Given the description of an element on the screen output the (x, y) to click on. 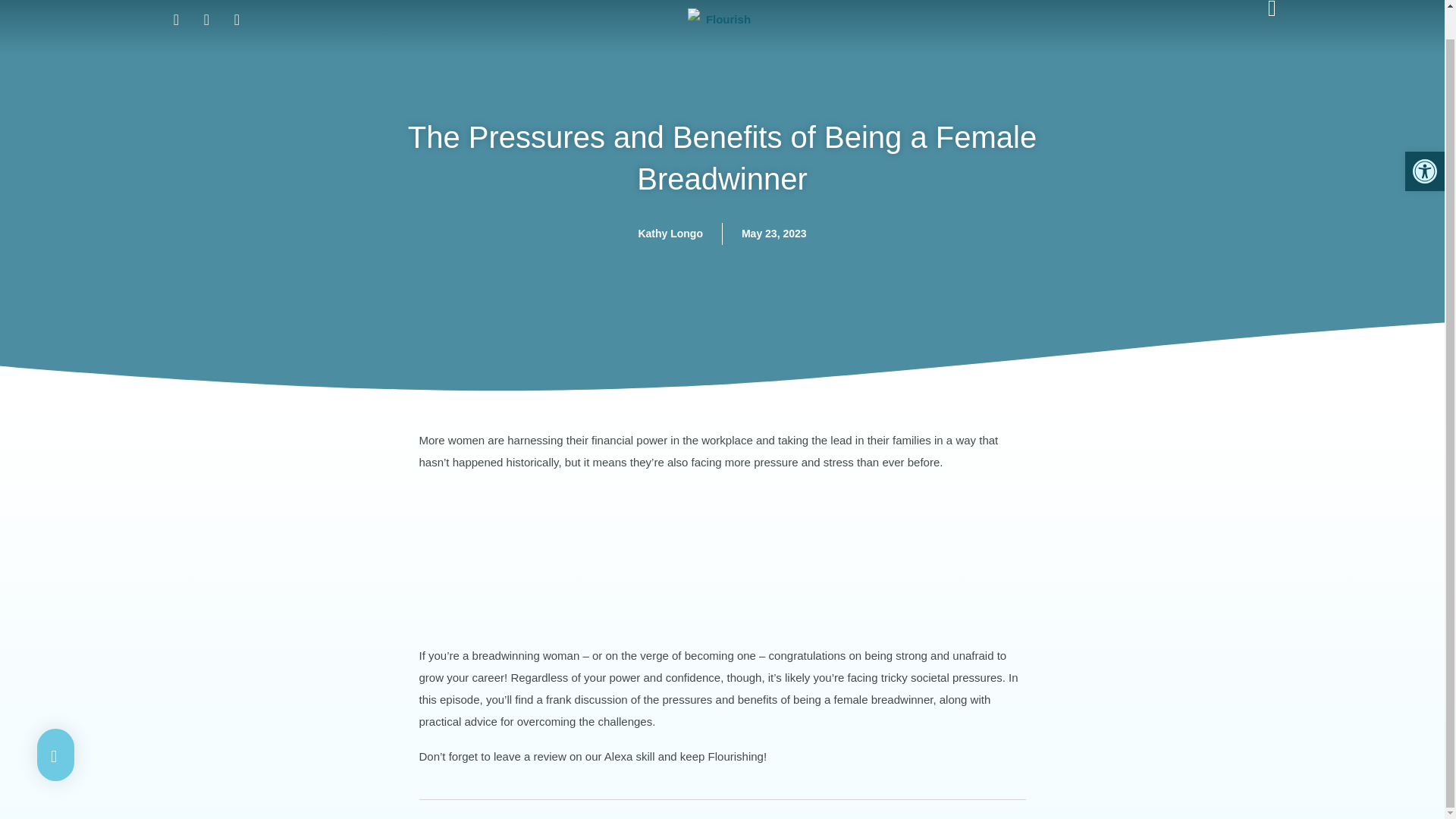
Accessibility Tools (1424, 140)
May 23, 2023 (773, 233)
Kathy Longo (670, 233)
